Given the description of an element on the screen output the (x, y) to click on. 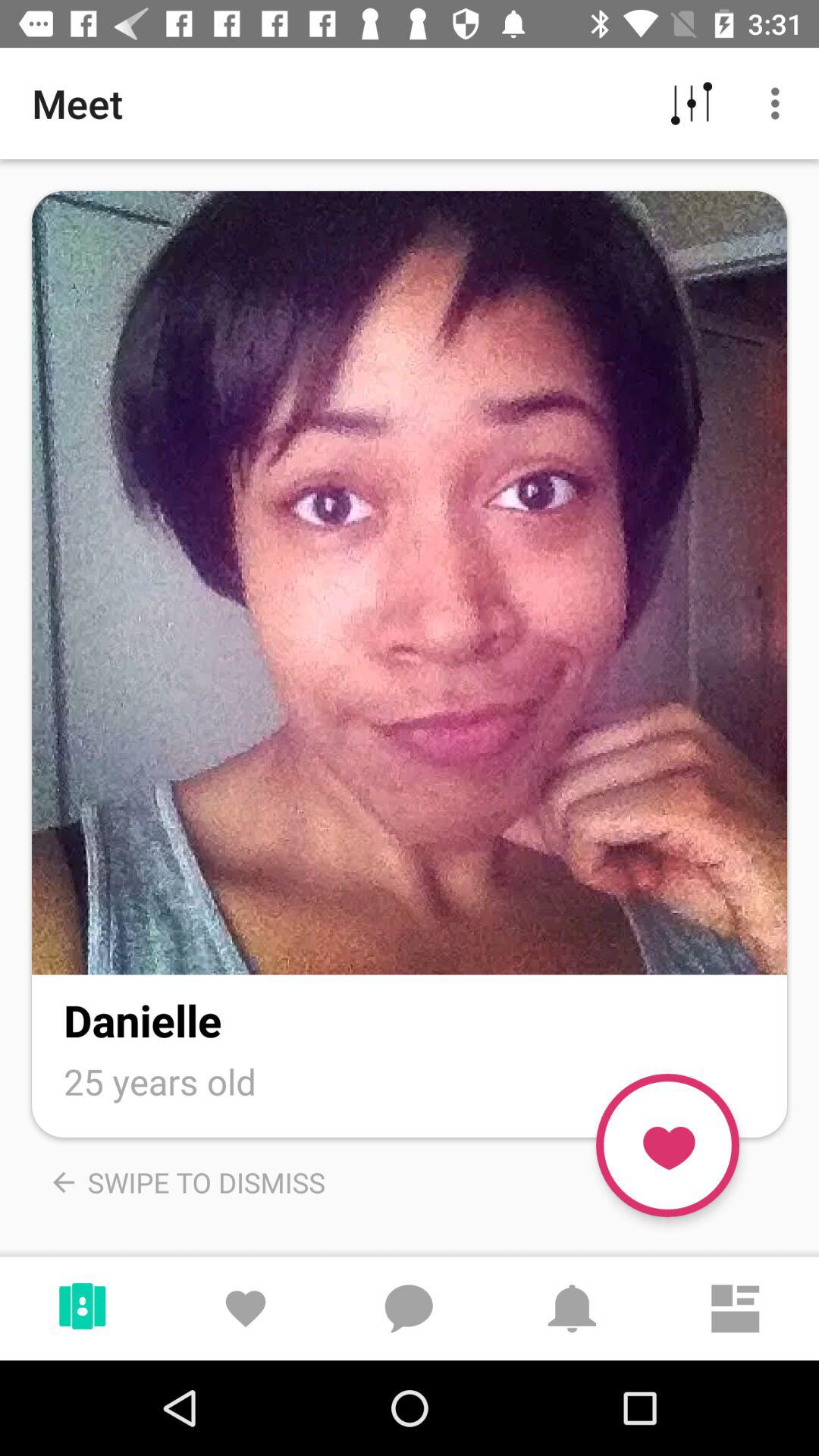
click on the bottom row second icon (245, 1300)
click on the chat icon left side of bell icon (408, 1300)
select the second icon at the top right of the page (779, 103)
click on the bell icon (571, 1300)
select the text under danielle (159, 1081)
